Given the description of an element on the screen output the (x, y) to click on. 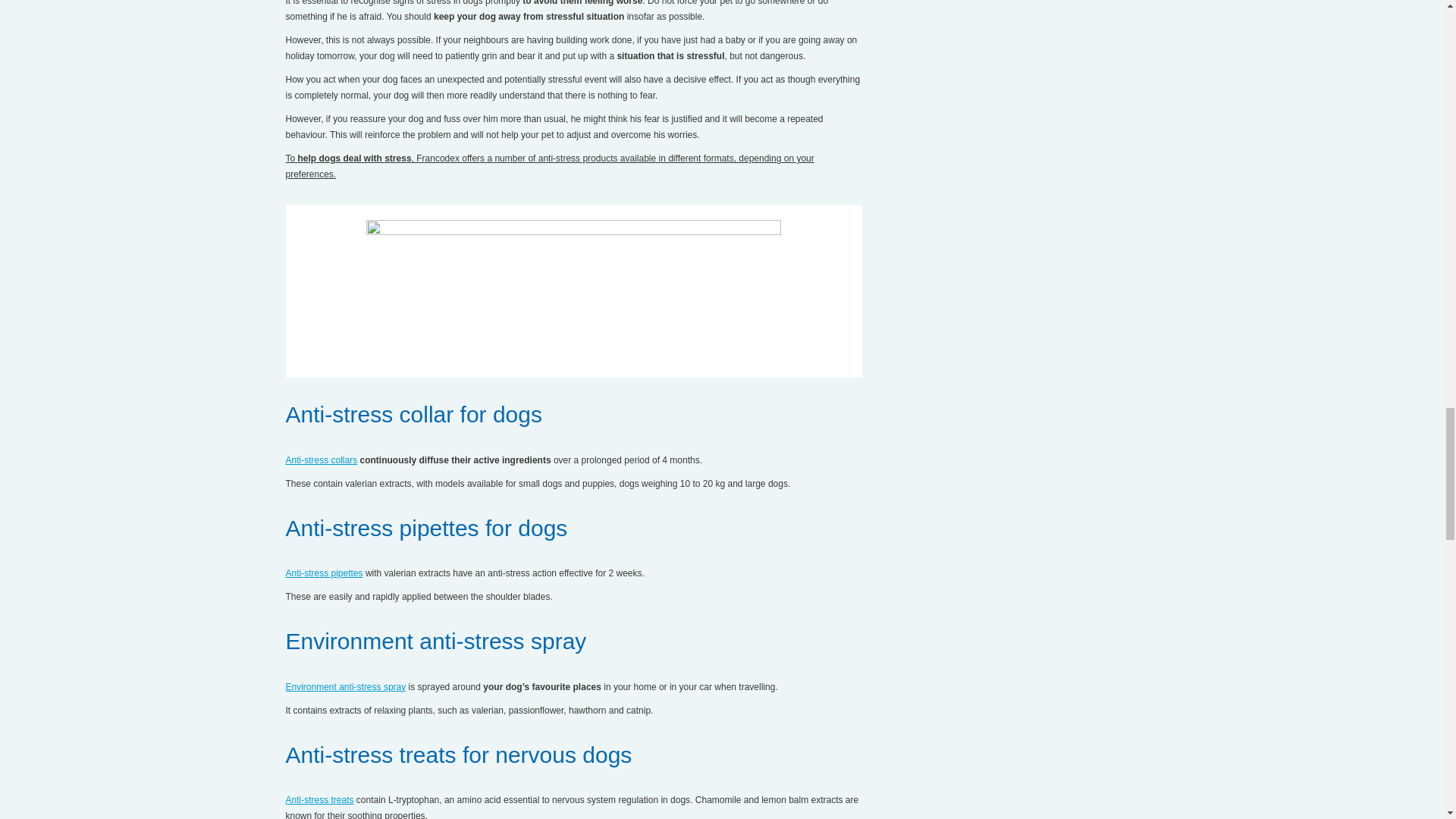
Environment anti-stress spray (345, 686)
Anti-stress treats (319, 799)
Anti-stress pipettes (323, 573)
Anti-stress collars (320, 460)
